Given the description of an element on the screen output the (x, y) to click on. 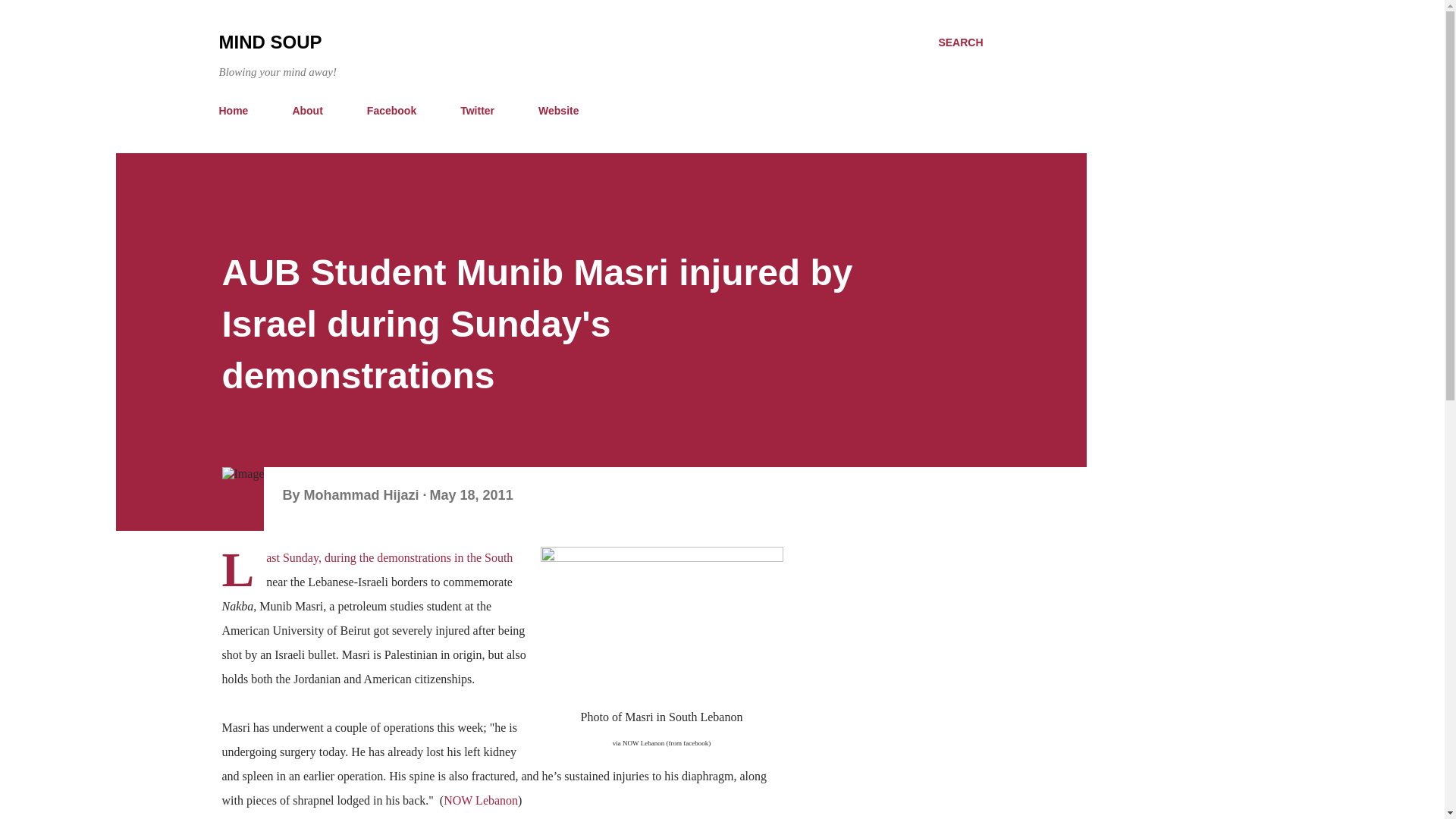
Home (237, 110)
permanent link (471, 494)
author profile (362, 494)
NOW Lebanon (481, 799)
SEARCH (959, 42)
May 18, 2011 (471, 494)
About (306, 110)
Twitter (477, 110)
Mohammad Hijazi (362, 494)
MIND SOUP (269, 41)
